Given the description of an element on the screen output the (x, y) to click on. 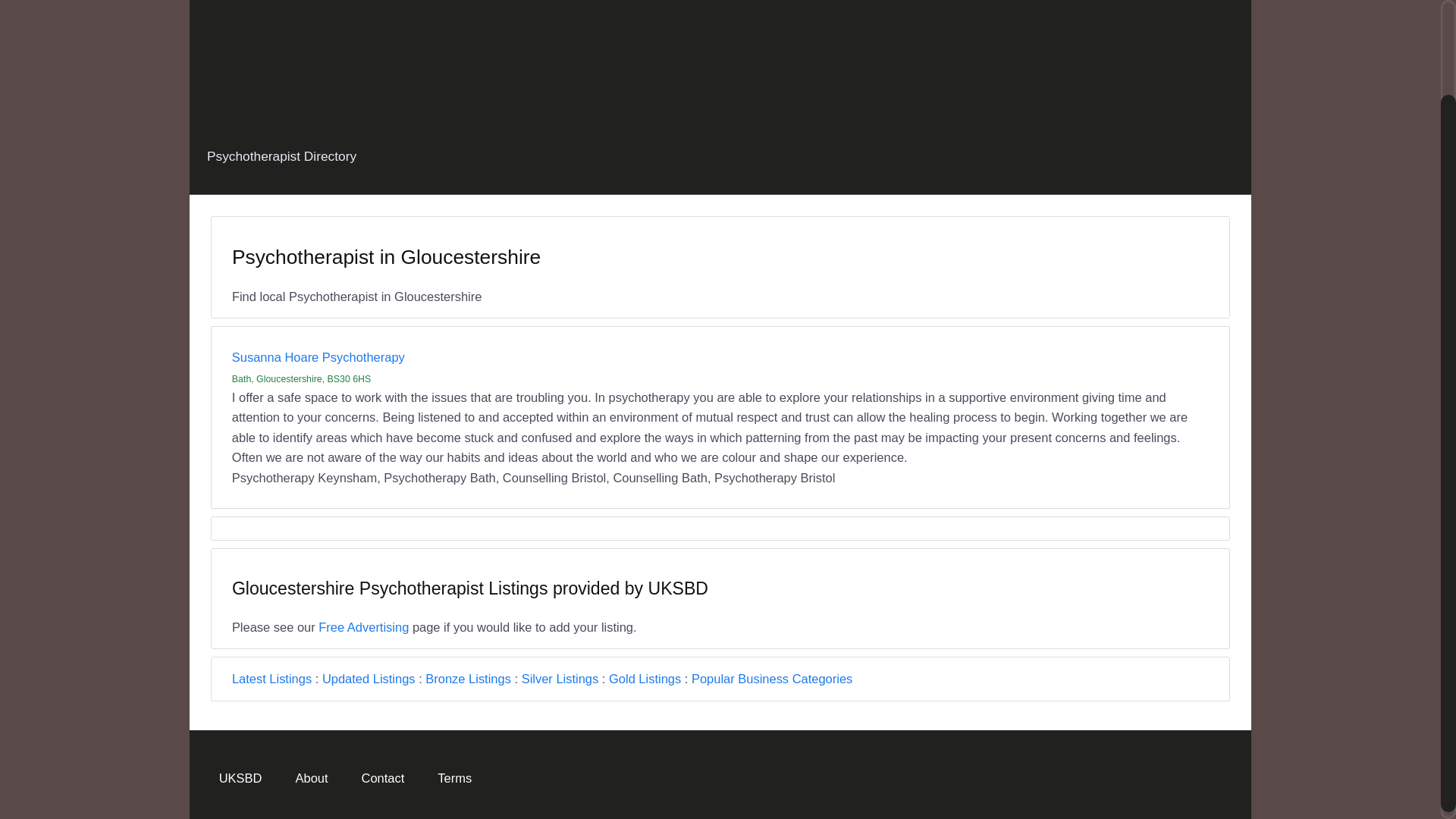
About (311, 777)
UKSBD (240, 777)
Advertisement (719, 55)
Terms (454, 777)
Contact (382, 777)
Silver Listings (559, 678)
Popular Business Categories (771, 678)
Susanna Hoare Psychotherapy (317, 356)
Gold Listings (644, 678)
Latest Listings (271, 678)
Free Advertising (363, 626)
Psychotherapist Directory (281, 156)
Bronze Listings (468, 678)
Updated Listings (367, 678)
